Given the description of an element on the screen output the (x, y) to click on. 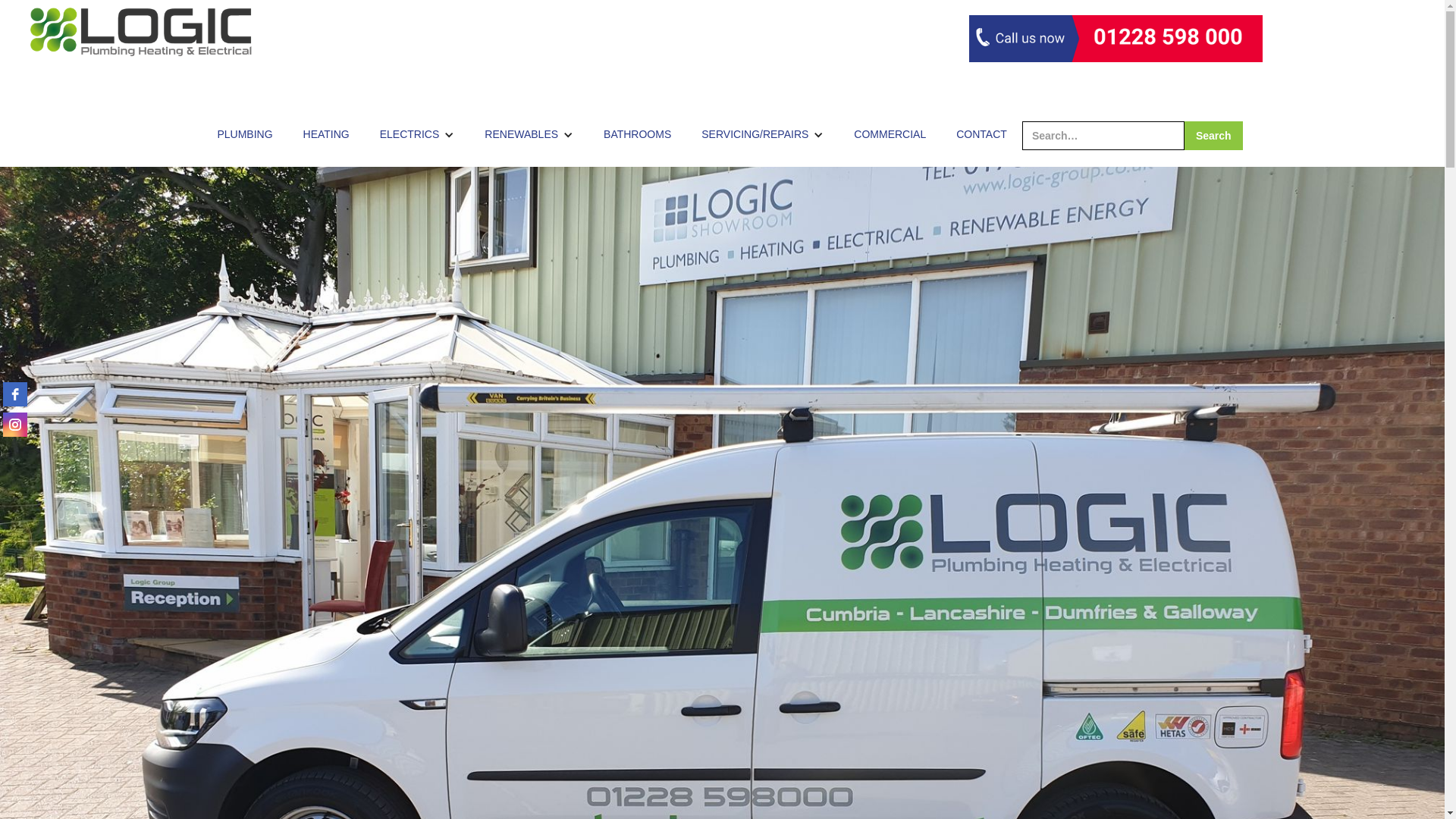
BATHROOMS (636, 132)
CONTACT (981, 132)
COMMERCIAL (889, 132)
Search (1214, 135)
HEATING (326, 132)
Search (1214, 135)
PLUMBING (244, 132)
Facebook (14, 394)
Instagram (14, 424)
Search (1214, 135)
